Given the description of an element on the screen output the (x, y) to click on. 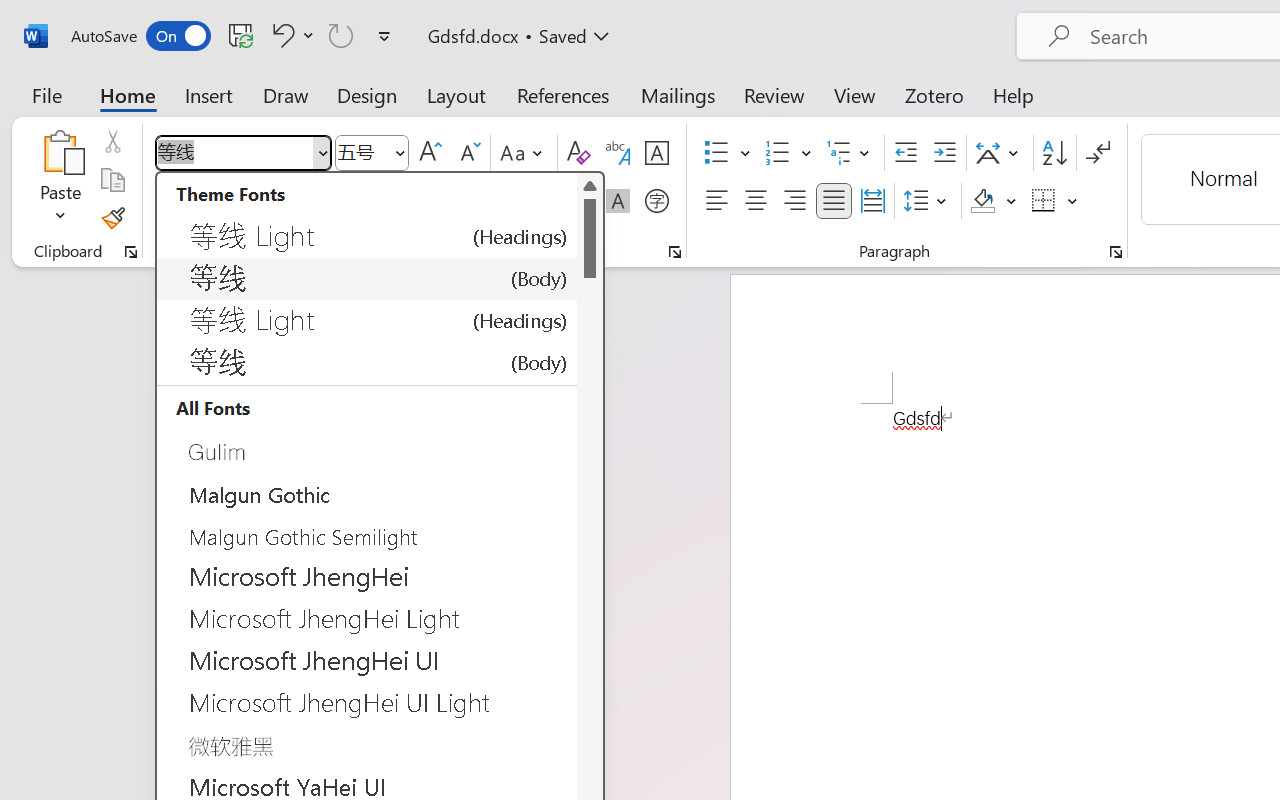
Align Left (716, 201)
Character Shading (618, 201)
Undo Style (290, 35)
Microsoft JhengHei (367, 577)
Microsoft JhengHei Light (367, 619)
